Given the description of an element on the screen output the (x, y) to click on. 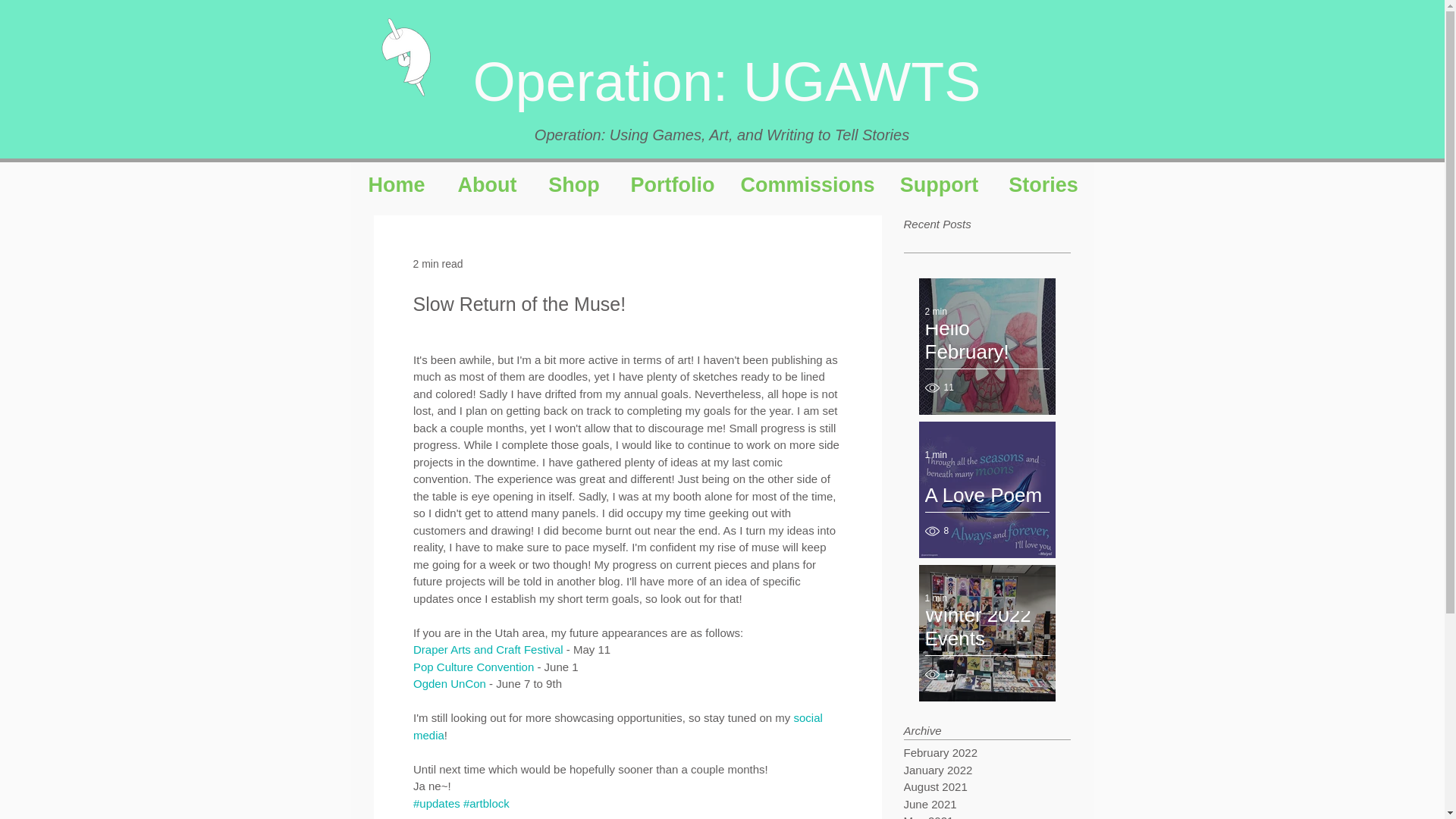
Portfolio (672, 185)
February 2022 (983, 753)
2 min read (437, 263)
About (487, 185)
1 min (935, 454)
Home (396, 185)
1 min (935, 597)
May 2021 (983, 816)
Pop Culture Convention (472, 666)
Ogden UnCon (448, 683)
2 min (935, 311)
A Love Poem (986, 503)
Winter 2022 Events (986, 634)
June 2021 (983, 805)
January 2022 (983, 769)
